Given the description of an element on the screen output the (x, y) to click on. 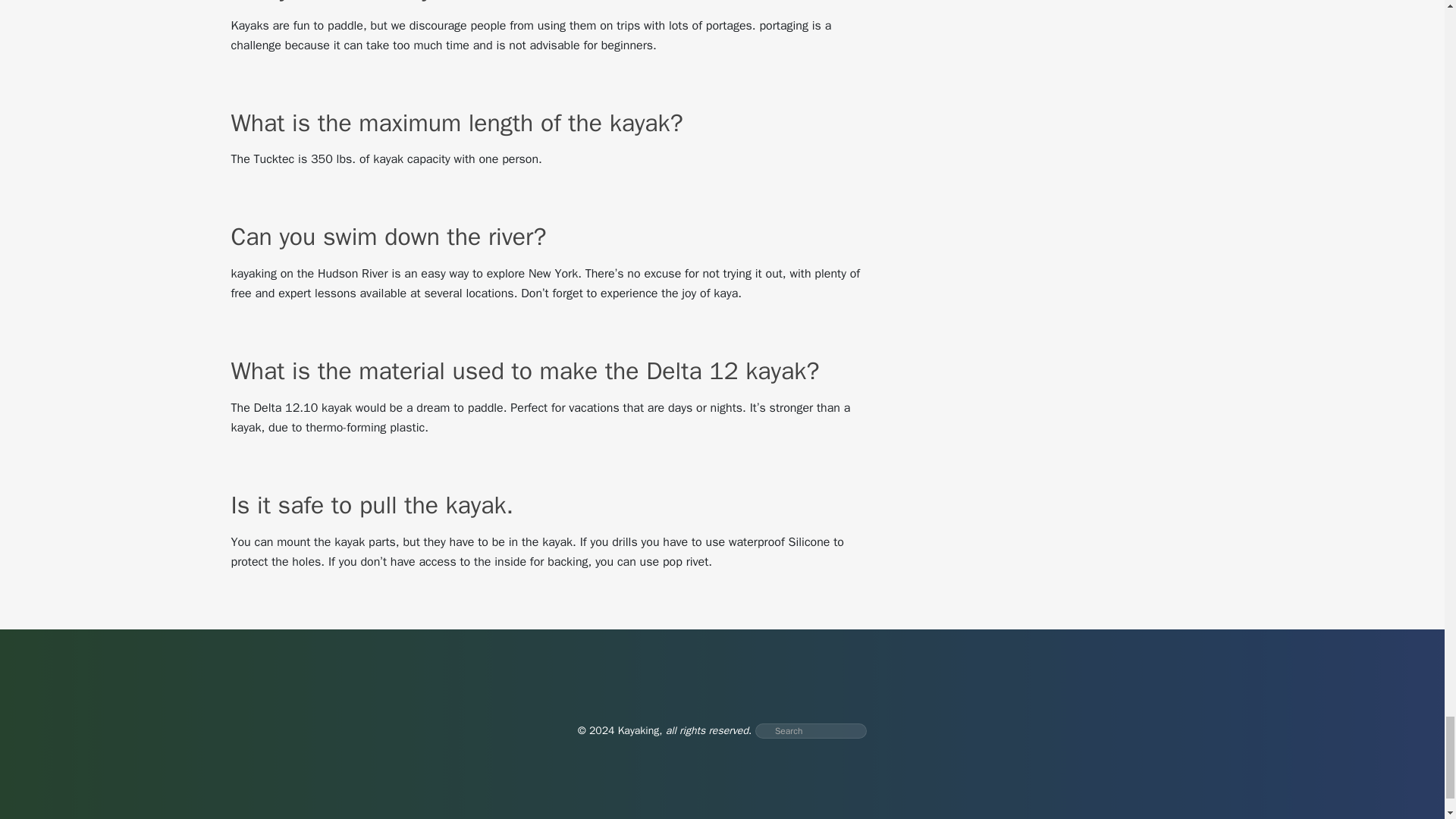
Kayaking (638, 730)
